Given the description of an element on the screen output the (x, y) to click on. 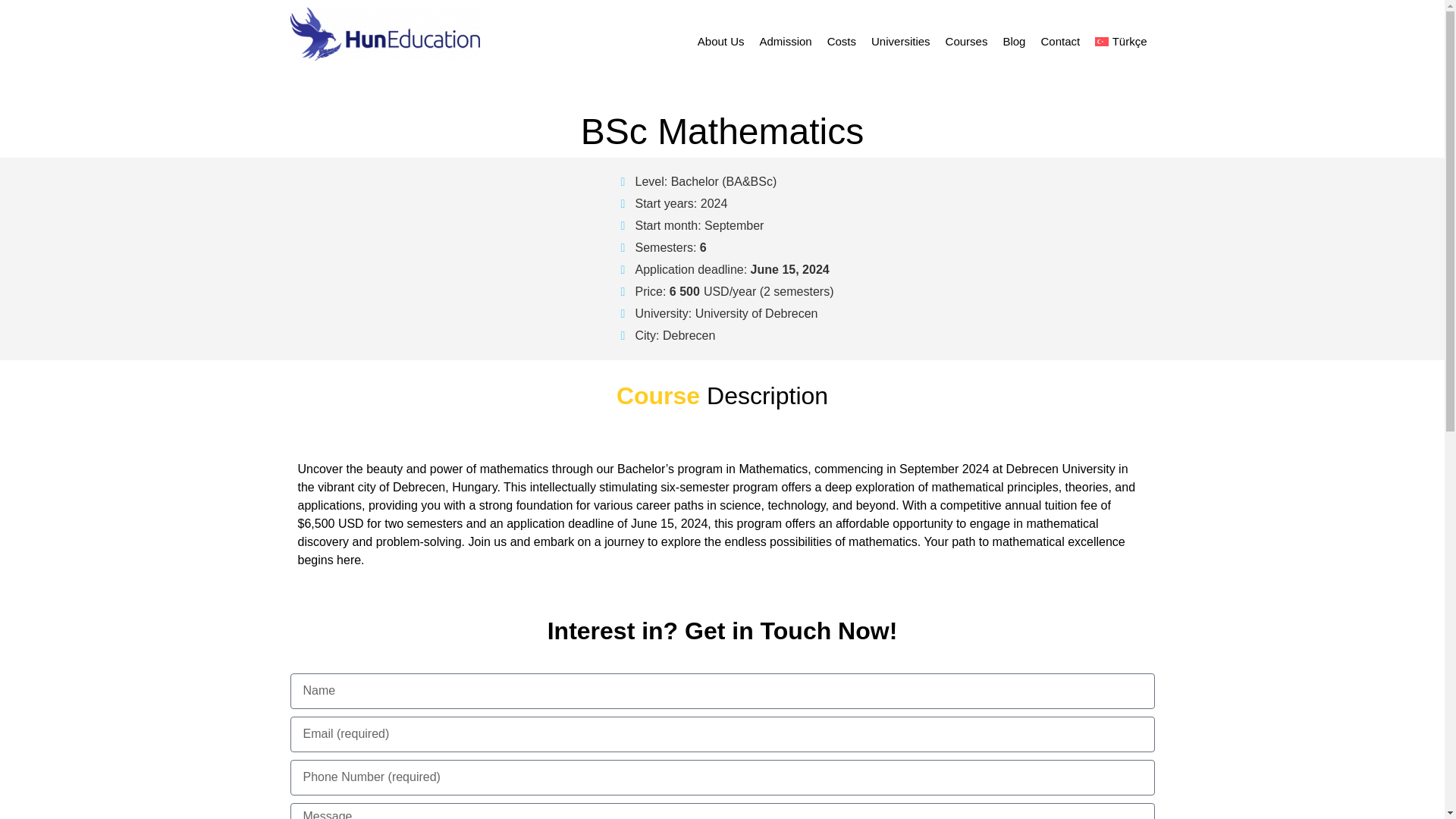
Contact (1059, 41)
Universities (900, 41)
Costs (841, 41)
Courses (966, 41)
Admission (784, 41)
About Us (721, 41)
logo-huneducation (384, 33)
Blog (1013, 41)
